Given the description of an element on the screen output the (x, y) to click on. 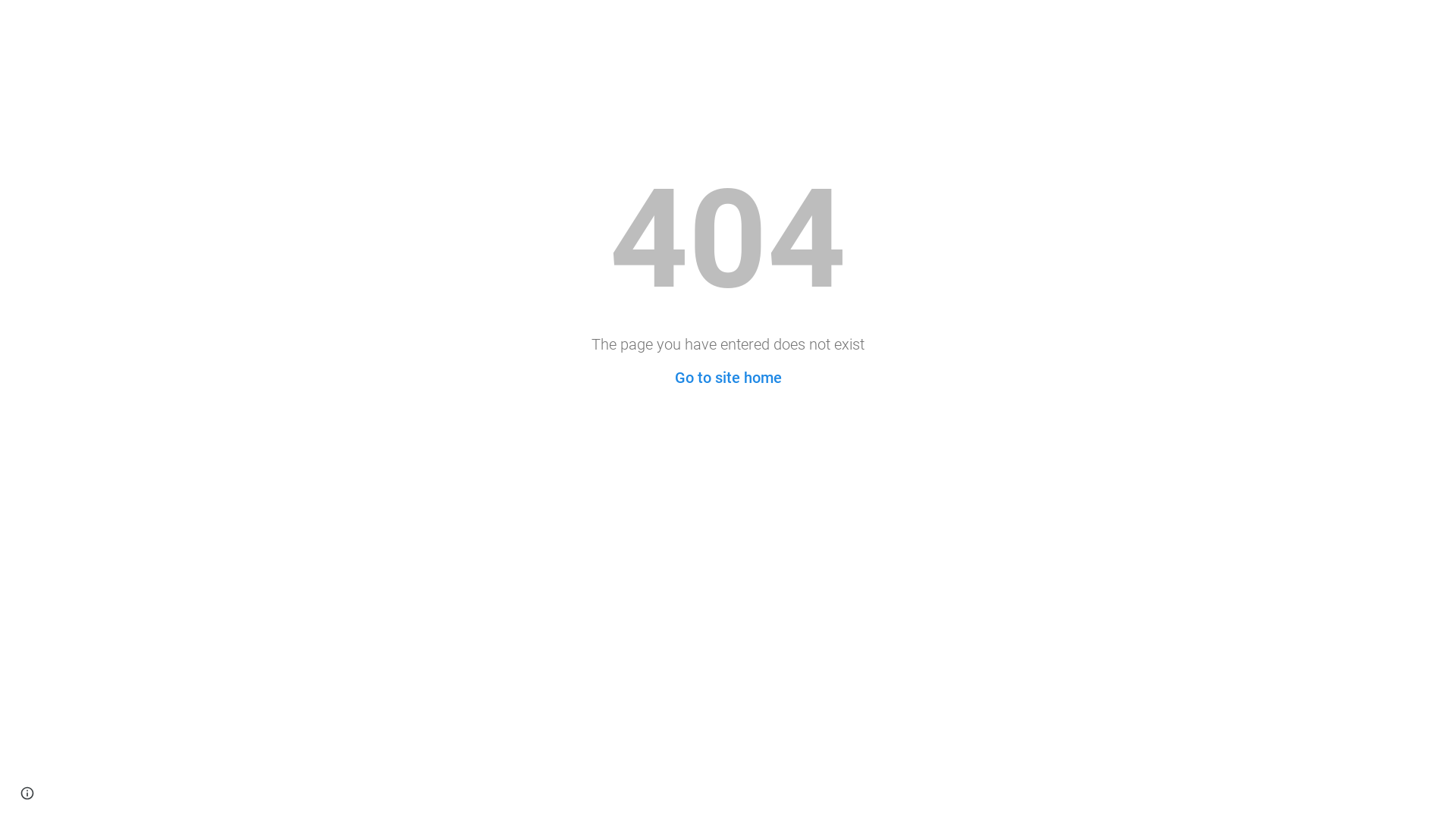
Go to site home Element type: text (727, 377)
